Given the description of an element on the screen output the (x, y) to click on. 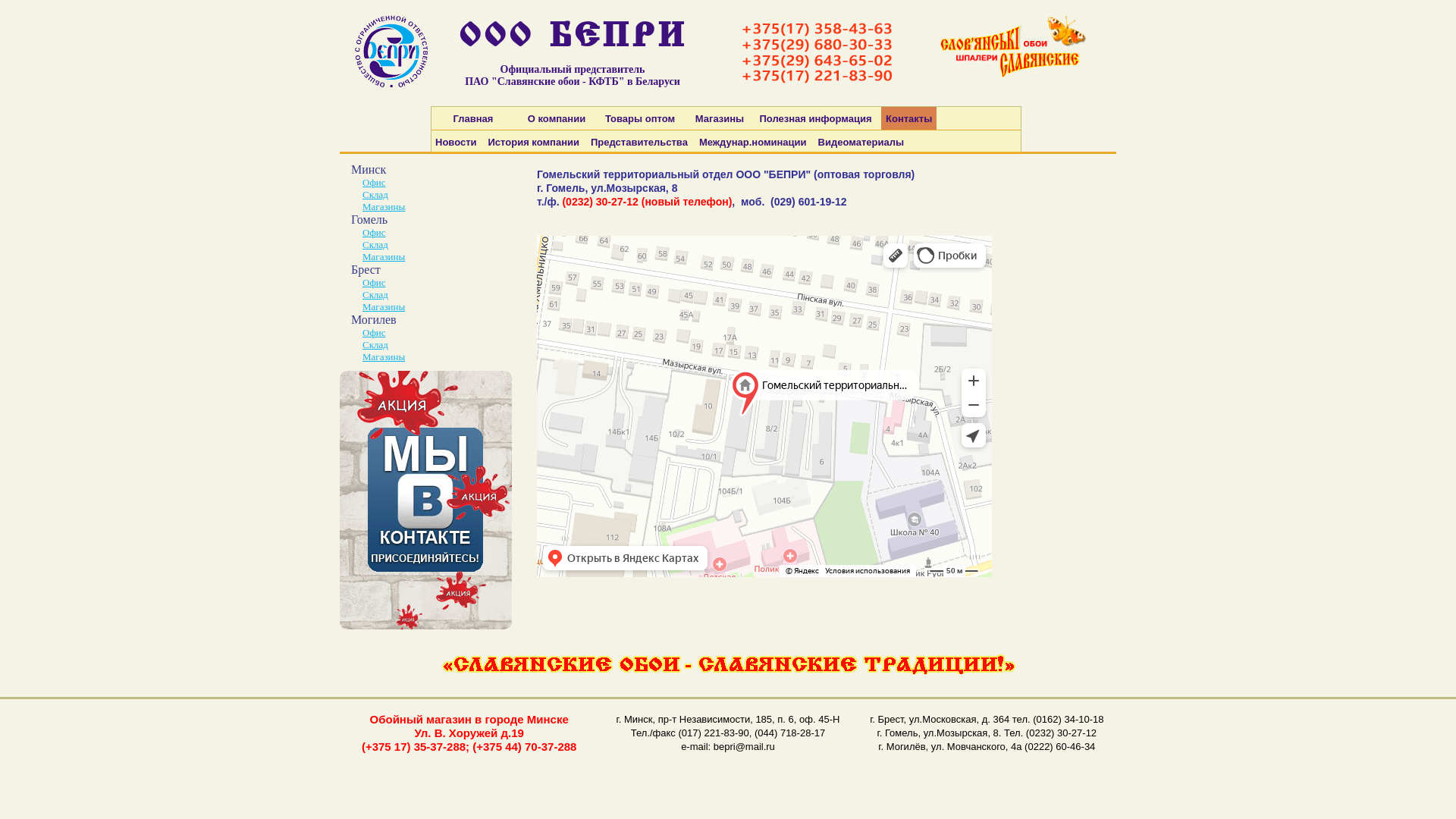
1 Element type: hover (425, 499)
